Given the description of an element on the screen output the (x, y) to click on. 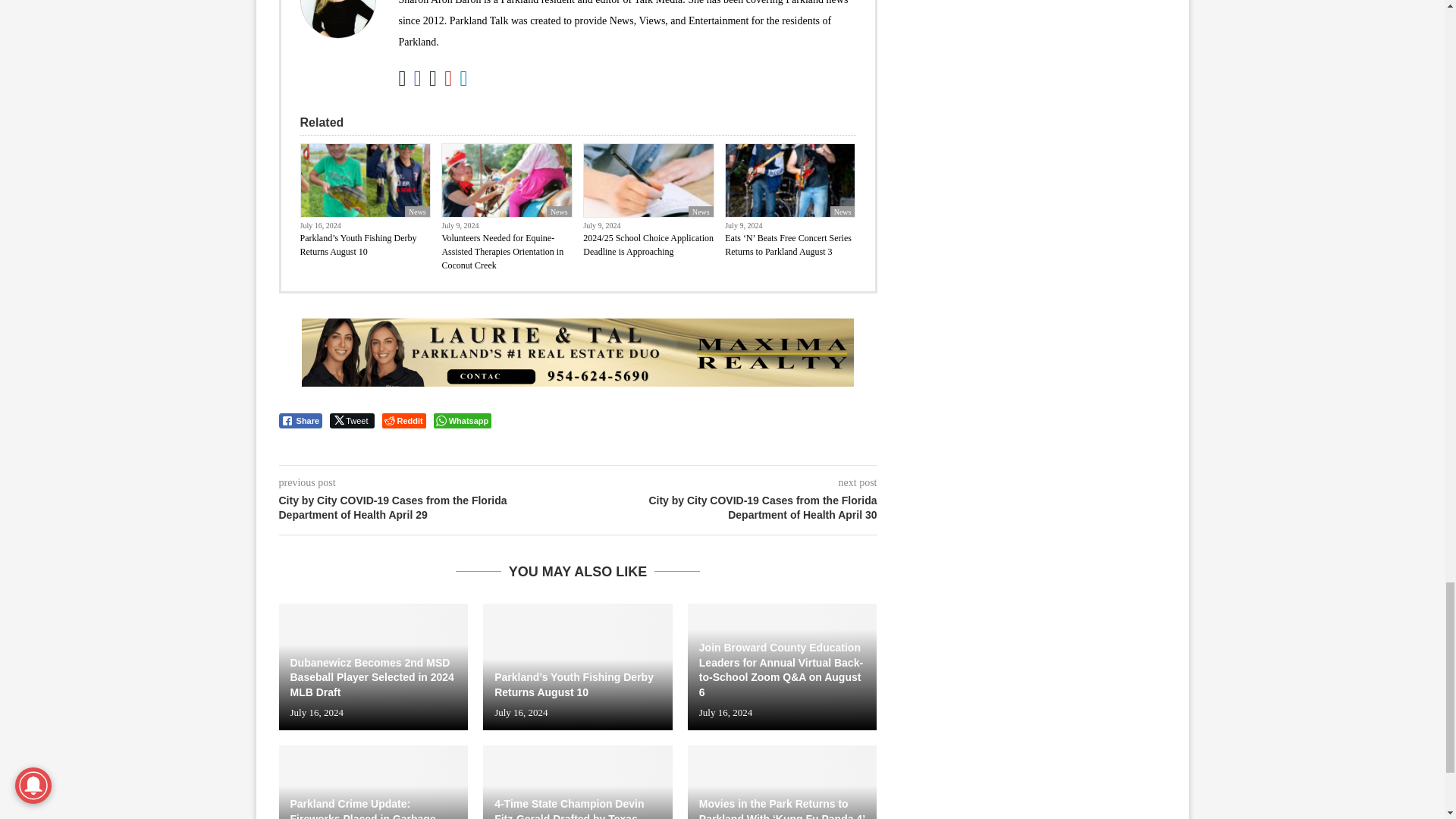
Parkland's Youth Fishing Derby Returns August 10 2 (364, 180)
